Given the description of an element on the screen output the (x, y) to click on. 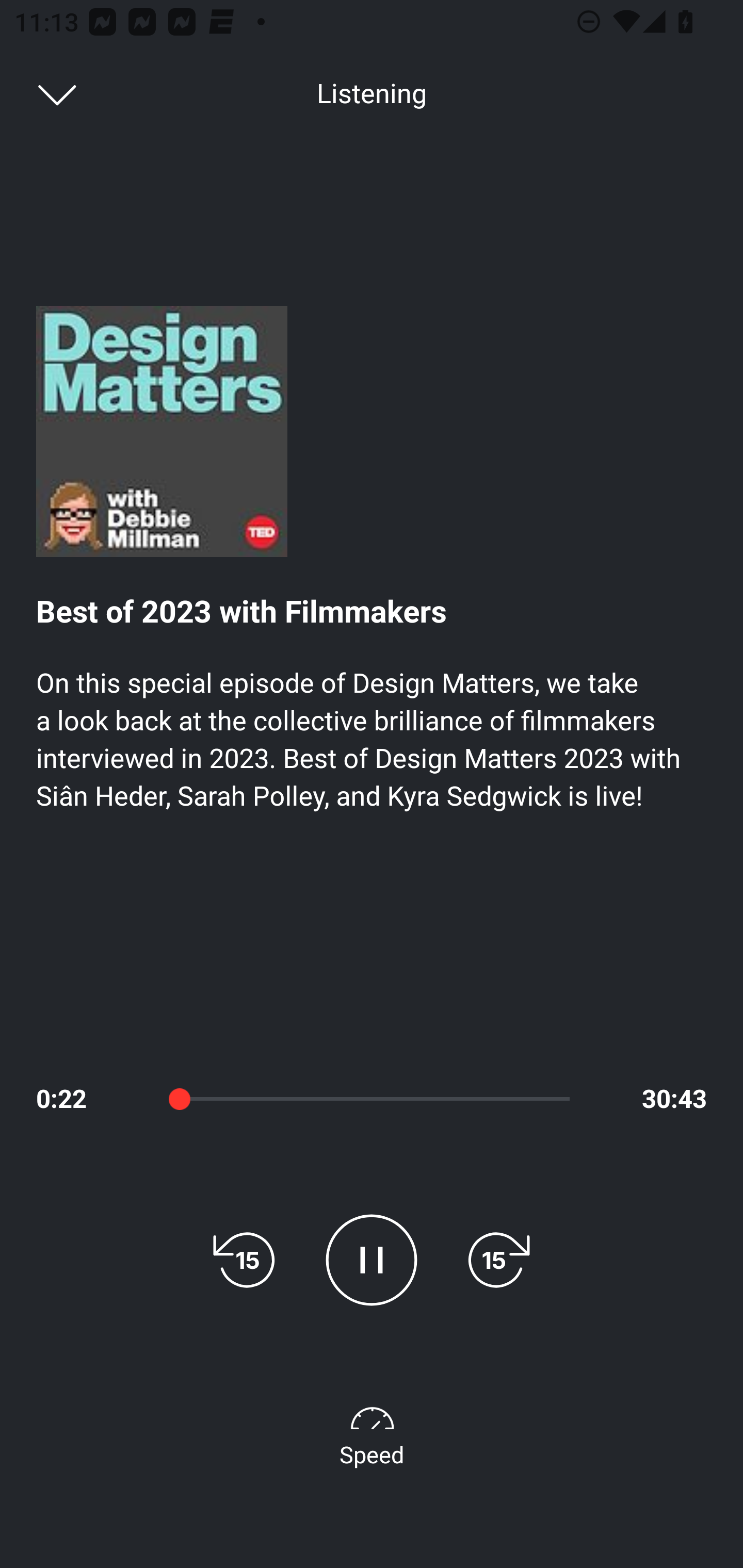
Listening (371, 93)
TED Podcasts, back (47, 92)
Speed (371, 1433)
